Given the description of an element on the screen output the (x, y) to click on. 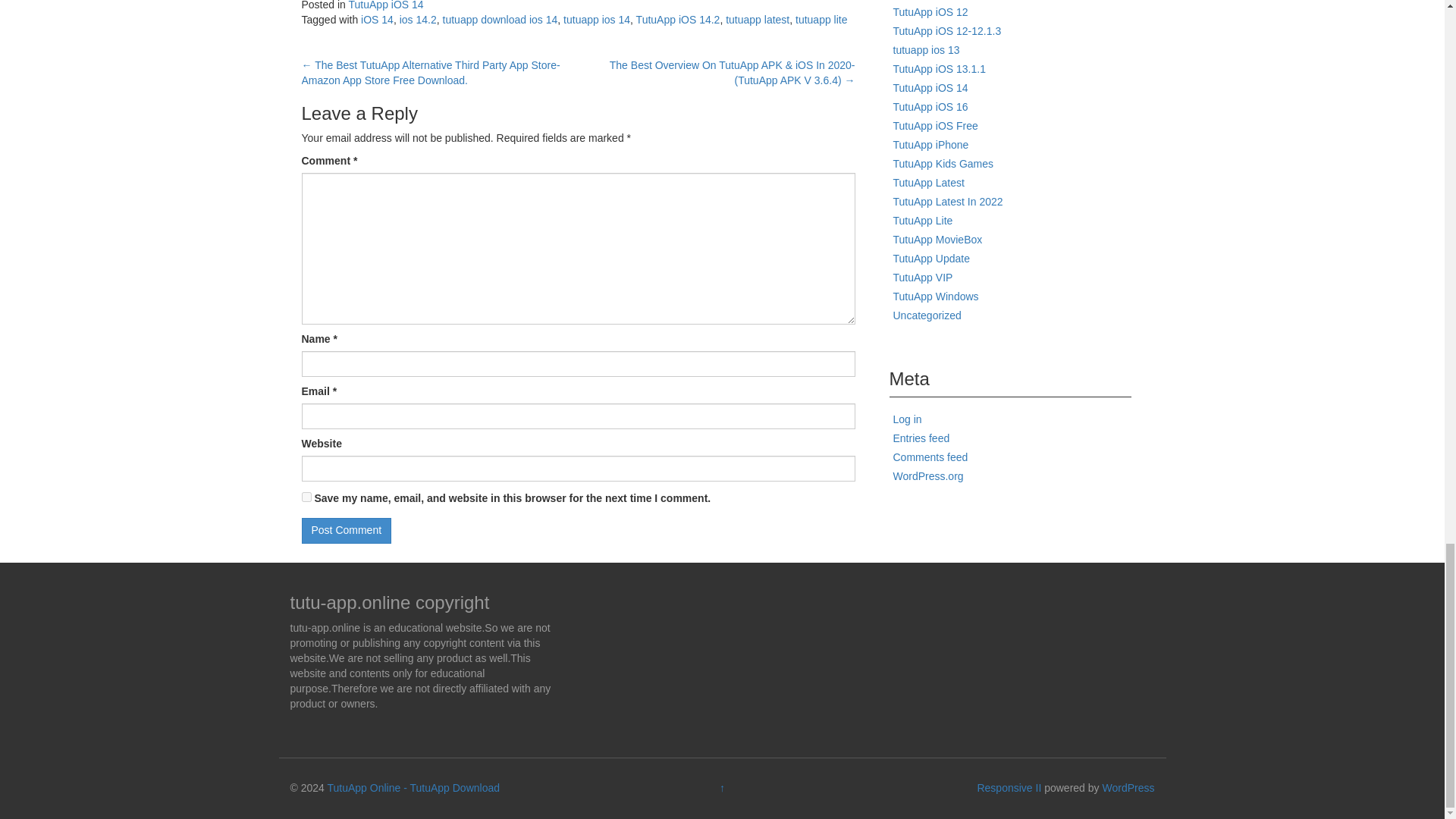
tutuapp lite (820, 19)
yes (306, 497)
tutuapp latest (757, 19)
tutuapp download ios 14 (499, 19)
ios 14.2 (417, 19)
TutuApp iOS 14.2 (678, 19)
iOS 14 (377, 19)
Post Comment (346, 530)
TutuApp iOS 14 (386, 5)
Post Comment (346, 530)
